Given the description of an element on the screen output the (x, y) to click on. 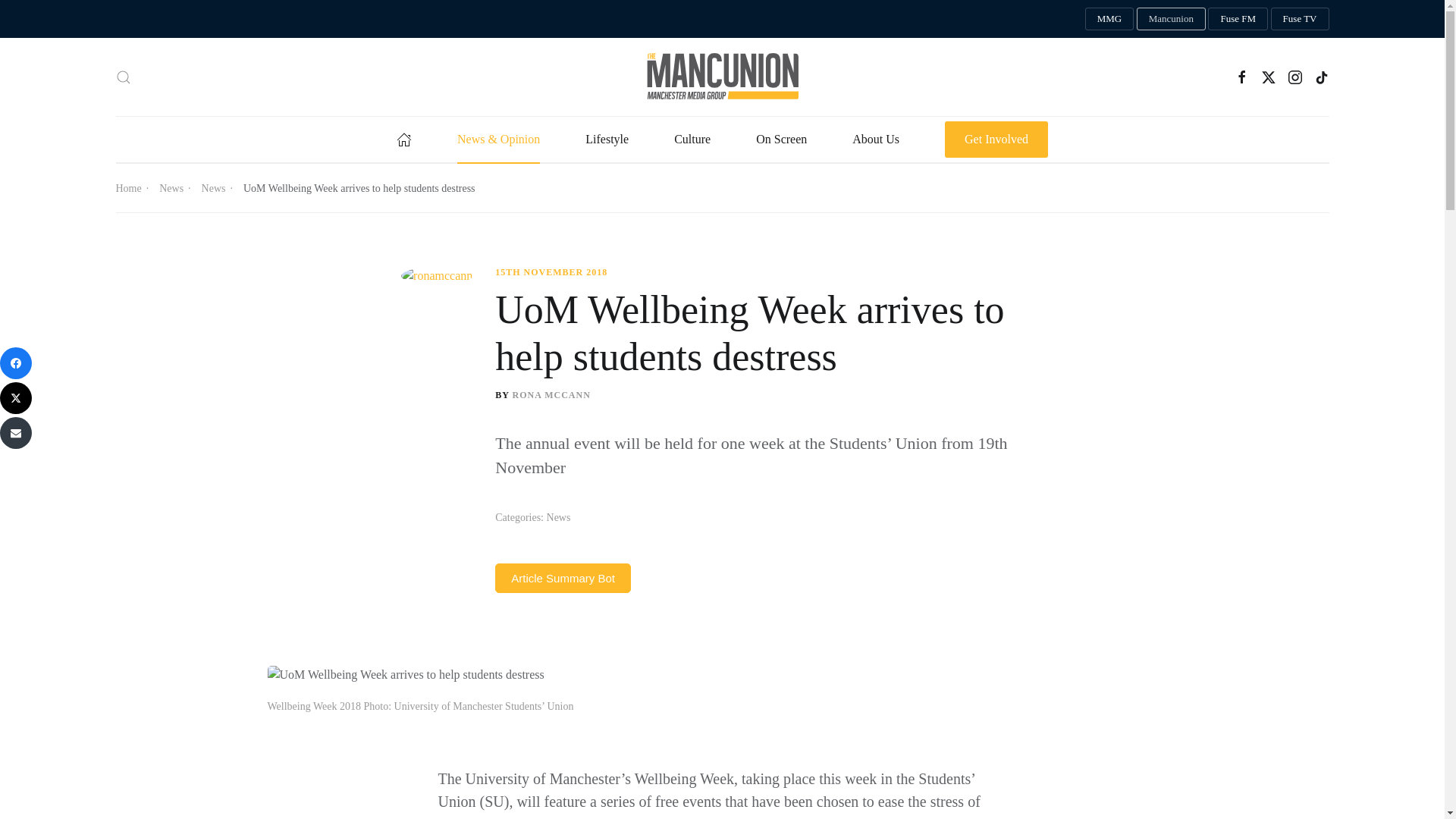
Manchester Media Group (1109, 18)
Fuse TV (1300, 18)
Manchester University Mancunion Newspaper (1171, 18)
Posts by Rona McCann (550, 394)
Manchester Fuse FM (1238, 18)
Mancunion (1171, 18)
Manchester Fuse TV (1300, 18)
Fuse FM (1238, 18)
MMG (1109, 18)
